Given the description of an element on the screen output the (x, y) to click on. 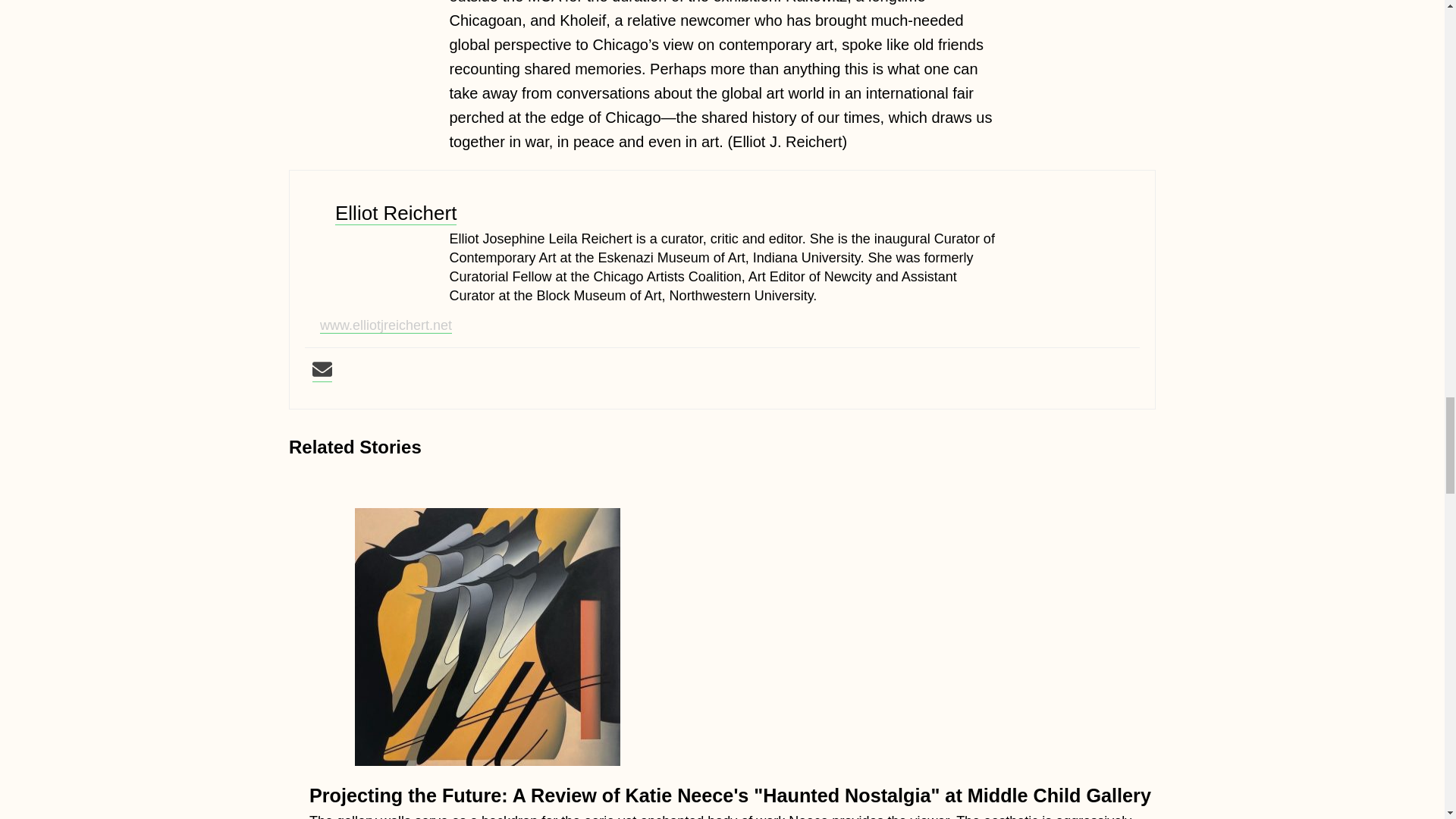
Elliot Reichert (395, 213)
www.elliotjreichert.net (385, 325)
